Given the description of an element on the screen output the (x, y) to click on. 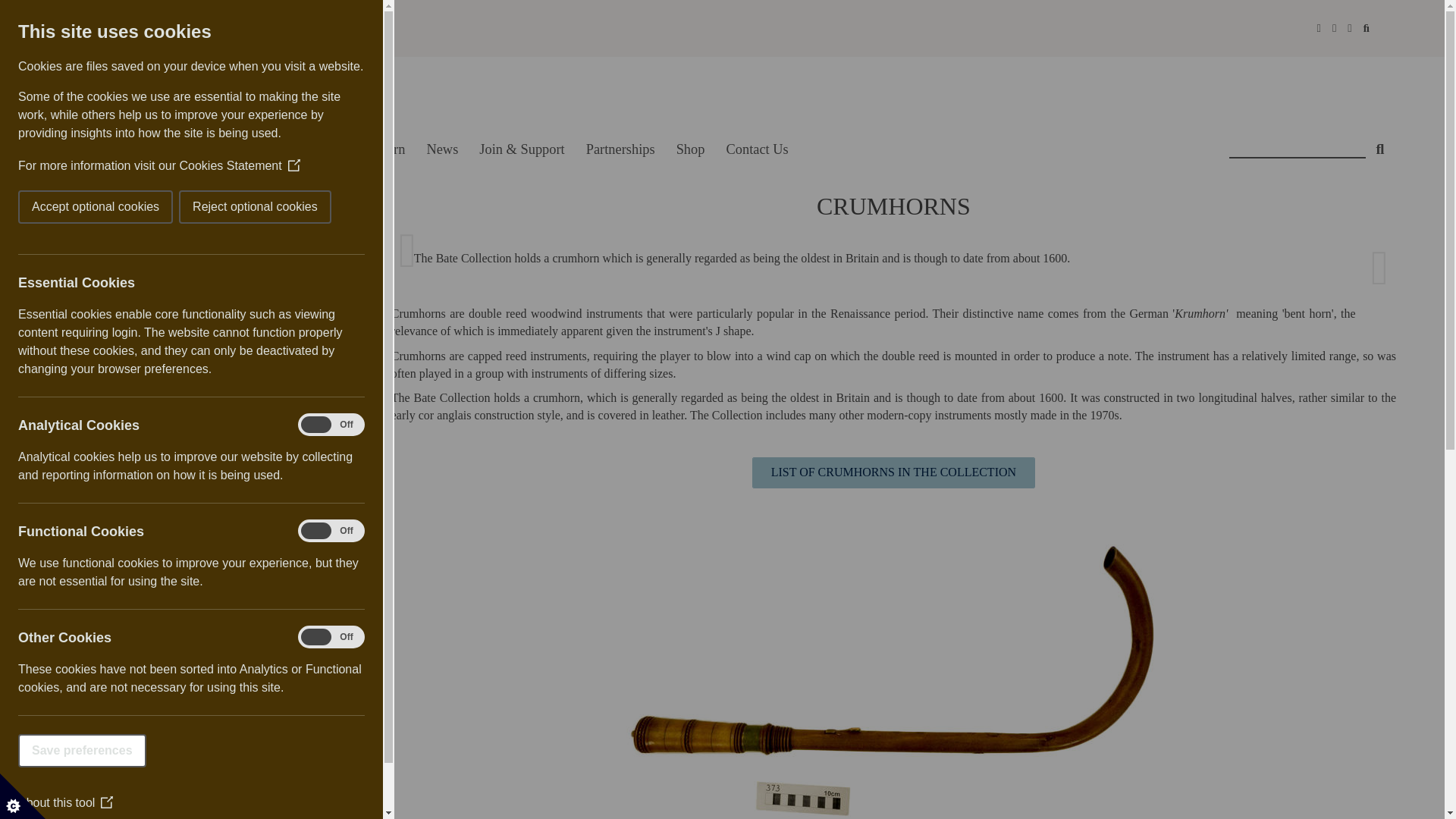
Reject optional cookies (87, 206)
Search (1379, 142)
Enter the terms you wish to search for (1296, 142)
Save preferences (15, 750)
The Bate Collection (226, 91)
About Us (220, 148)
